Given the description of an element on the screen output the (x, y) to click on. 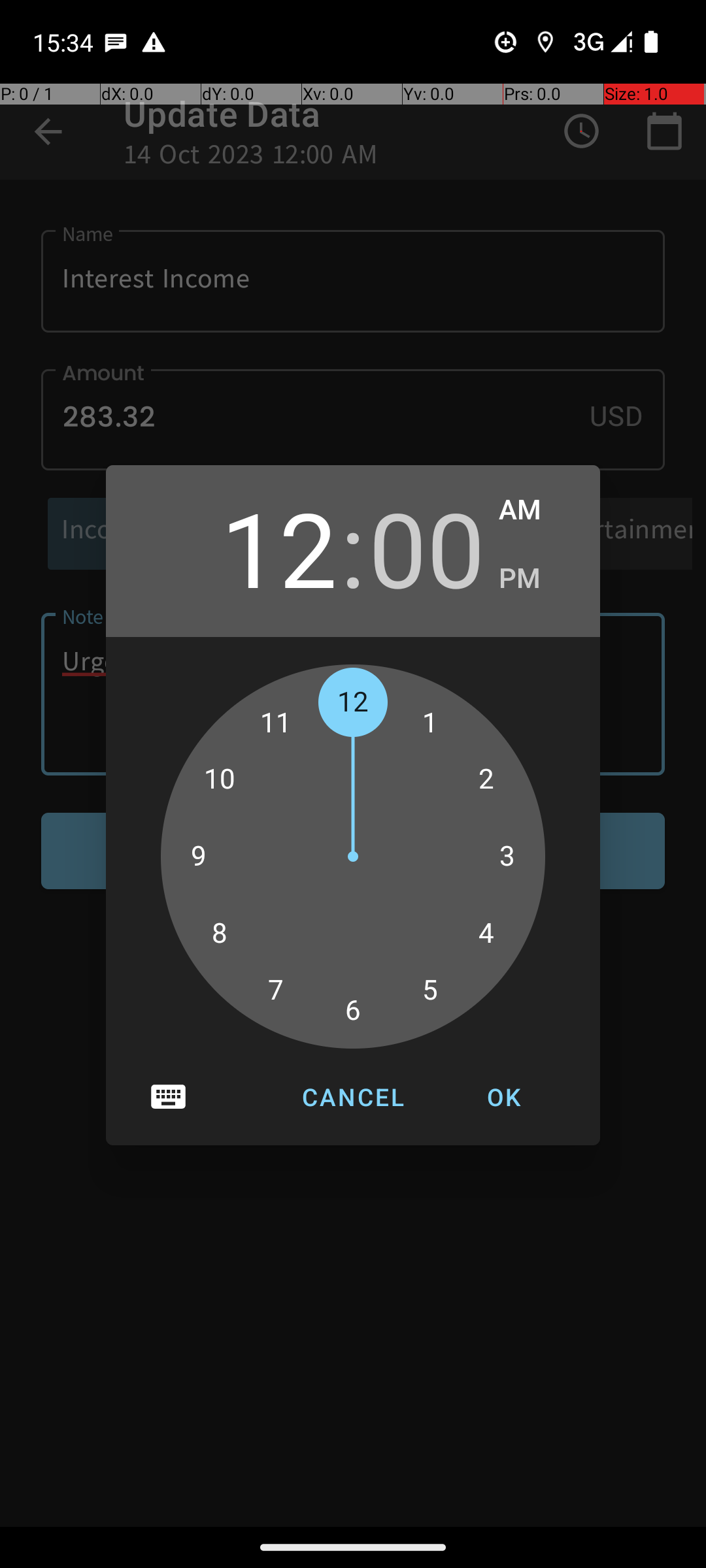
AM Element type: android.widget.RadioButton (535, 510)
PM Element type: android.widget.RadioButton (535, 578)
